Given the description of an element on the screen output the (x, y) to click on. 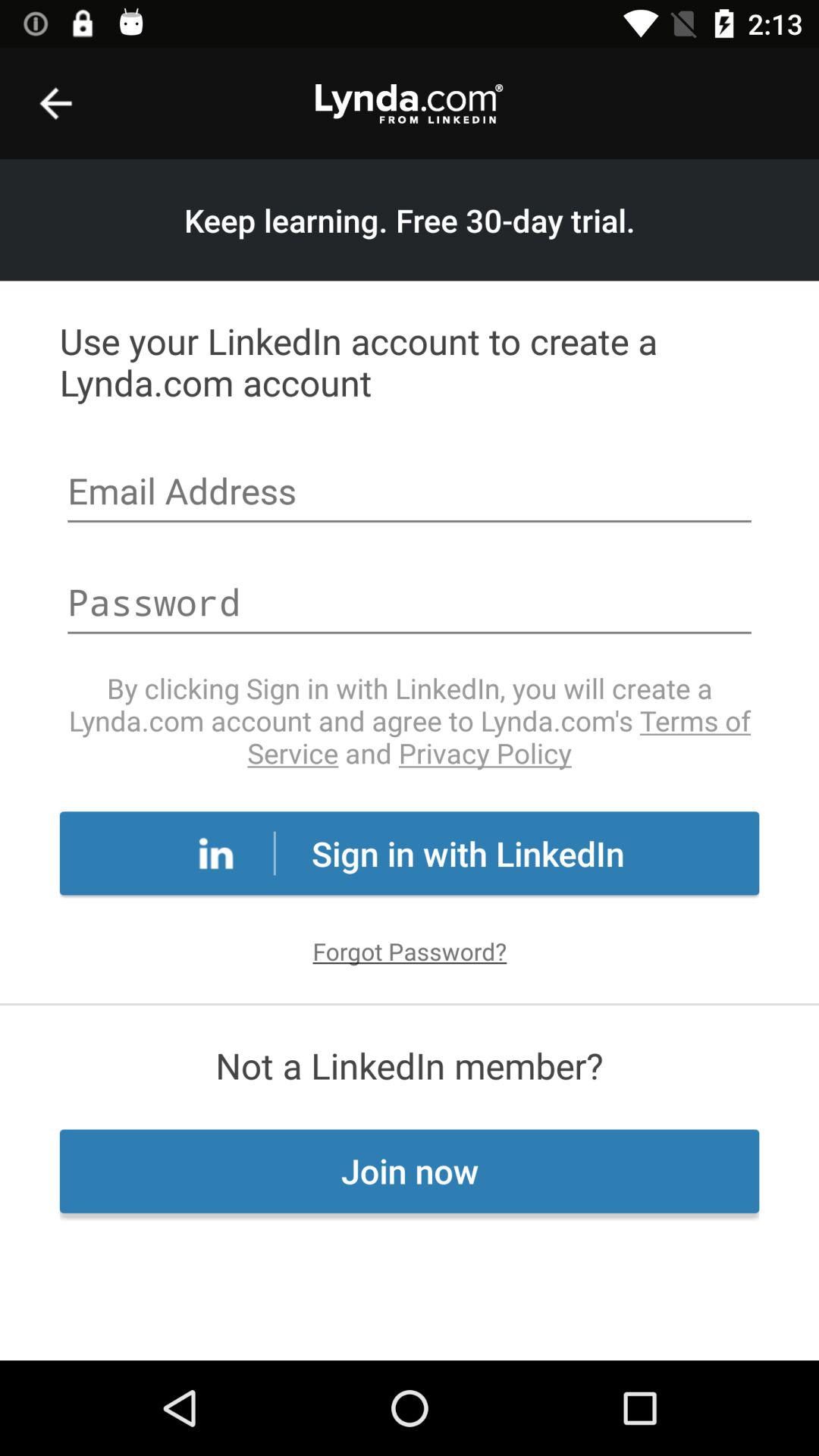
click on forgot  password (409, 951)
select the button above forgot password (409, 852)
click on the join now at the bottom of the page (409, 1170)
click on in left to sign in with linkedin (215, 852)
select the text field password on the web page (409, 604)
